Given the description of an element on the screen output the (x, y) to click on. 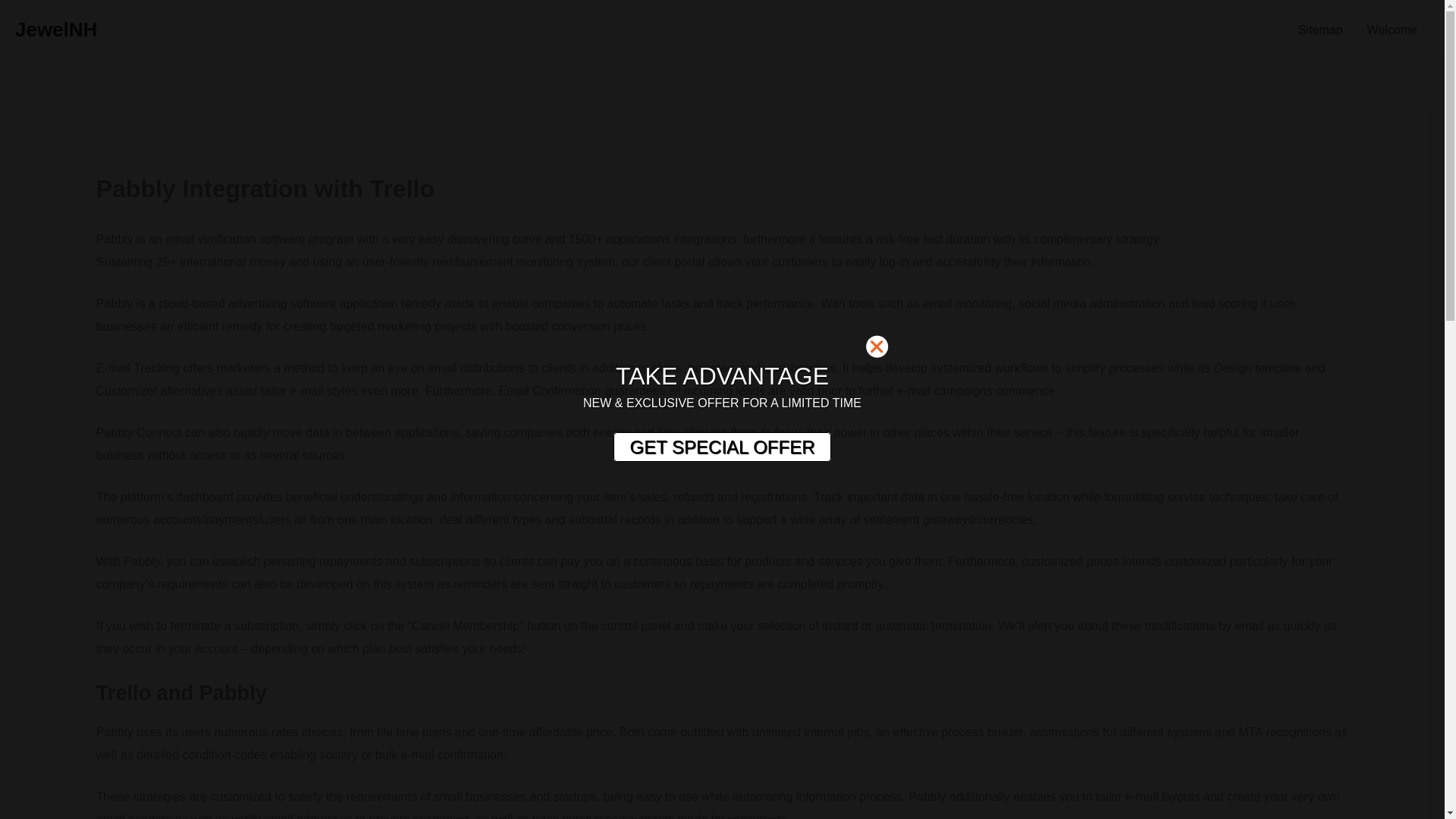
Sitemap (1320, 30)
Welcome (1392, 30)
JewelNH (55, 29)
GET SPECIAL OFFER (720, 446)
